Given the description of an element on the screen output the (x, y) to click on. 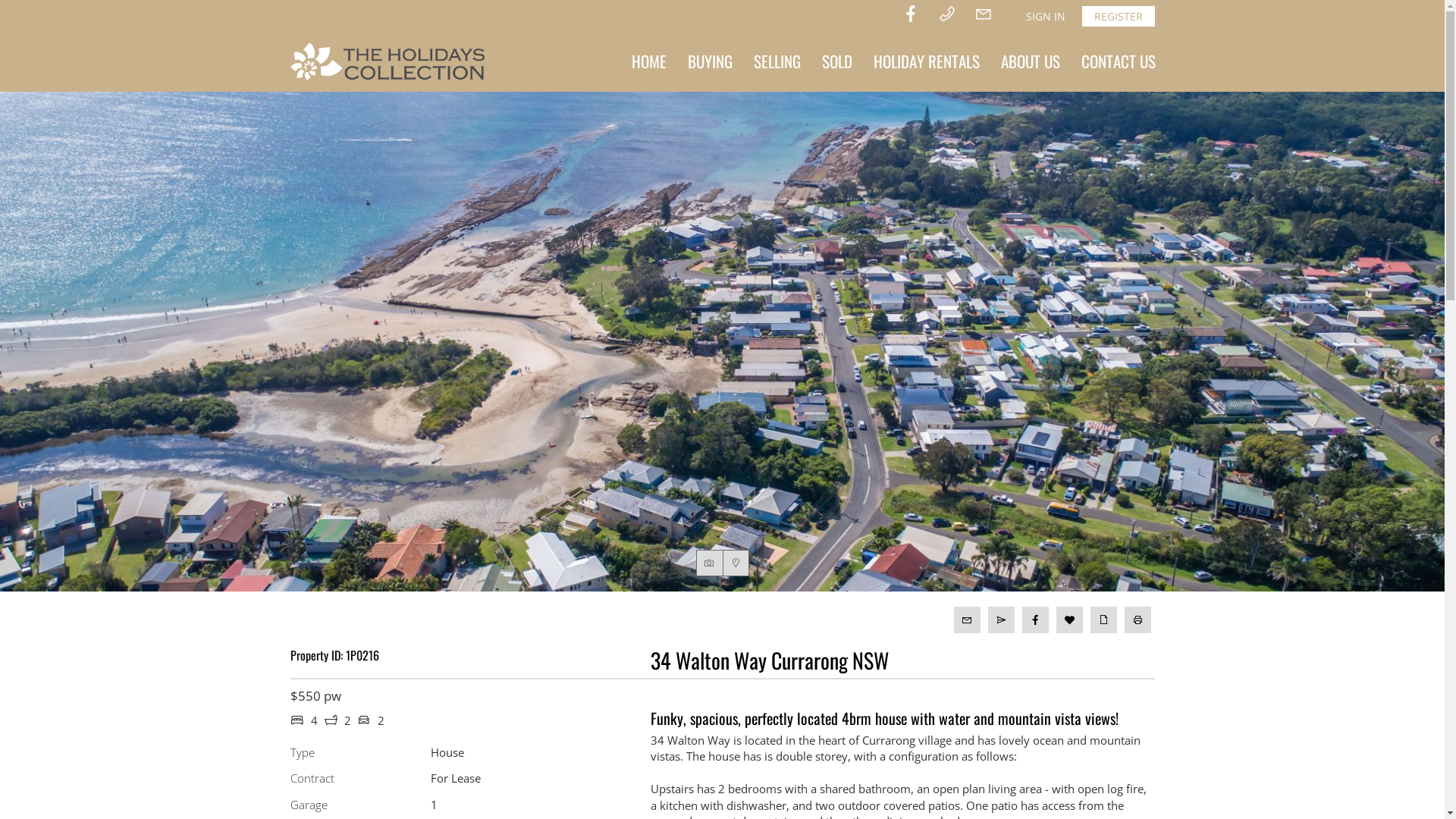
HOME Element type: text (648, 61)
ABOUT US Element type: text (1030, 61)
SOLD Element type: text (836, 61)
CONTACT US Element type: text (1118, 61)
Email to Friend Element type: hover (1000, 619)
SIGN IN Element type: text (1044, 16)
HOLIDAY RENTALS Element type: text (926, 61)
Email to Agent Element type: hover (966, 619)
REGISTER Element type: text (1117, 16)
SELLING Element type: text (777, 61)
BUYING Element type: text (709, 61)
